Given the description of an element on the screen output the (x, y) to click on. 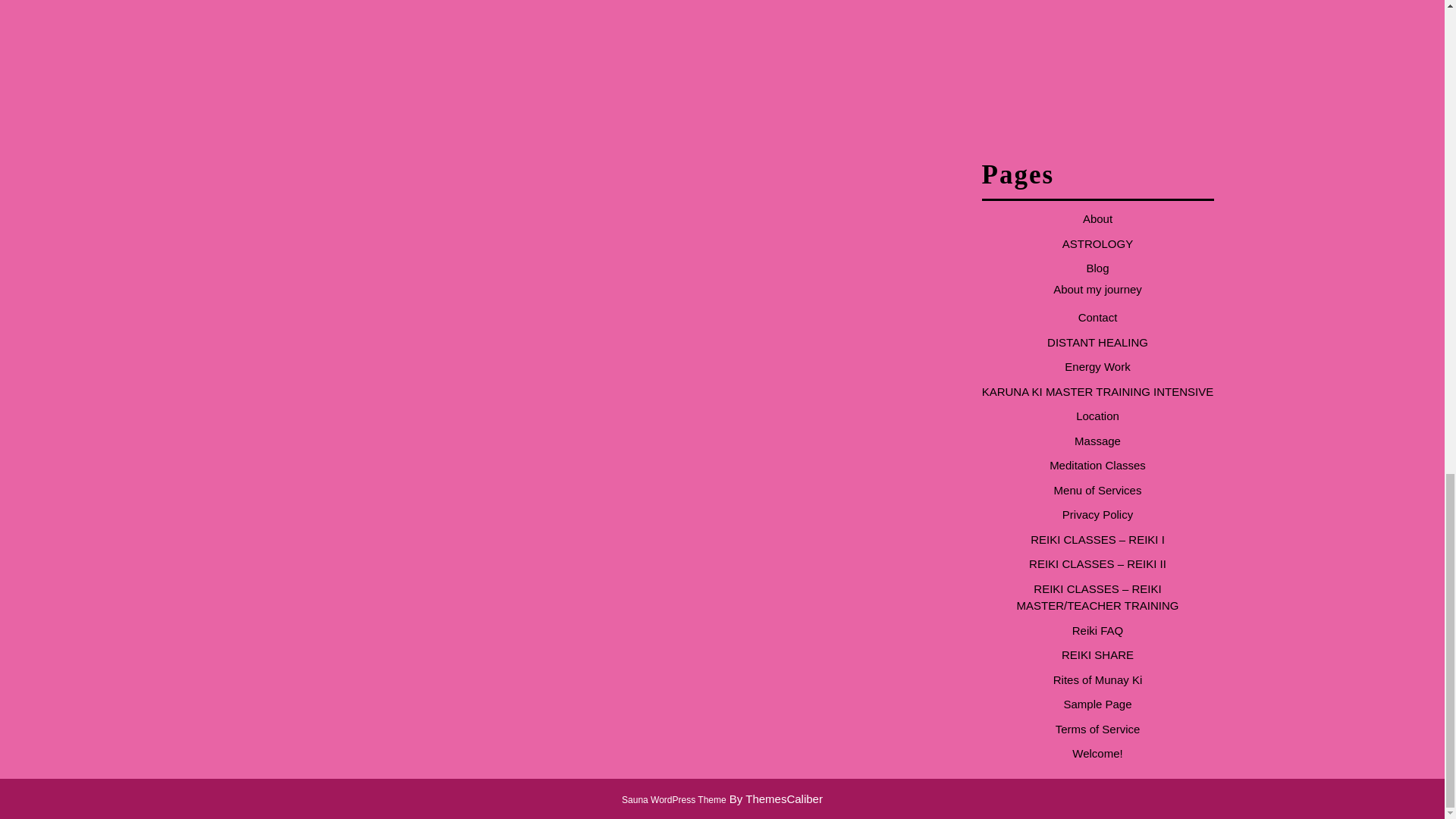
KARUNA KI MASTER TRAINING INTENSIVE (1097, 391)
Contact (1098, 317)
Privacy Policy (1097, 513)
Location (1097, 415)
Menu of Services (1097, 490)
About (1097, 218)
ASTROLOGY (1097, 243)
Meditation Classes (1097, 464)
About my journey (1096, 288)
Energy Work (1096, 366)
Blog (1097, 267)
Massage (1097, 440)
DISTANT HEALING (1097, 341)
